Given the description of an element on the screen output the (x, y) to click on. 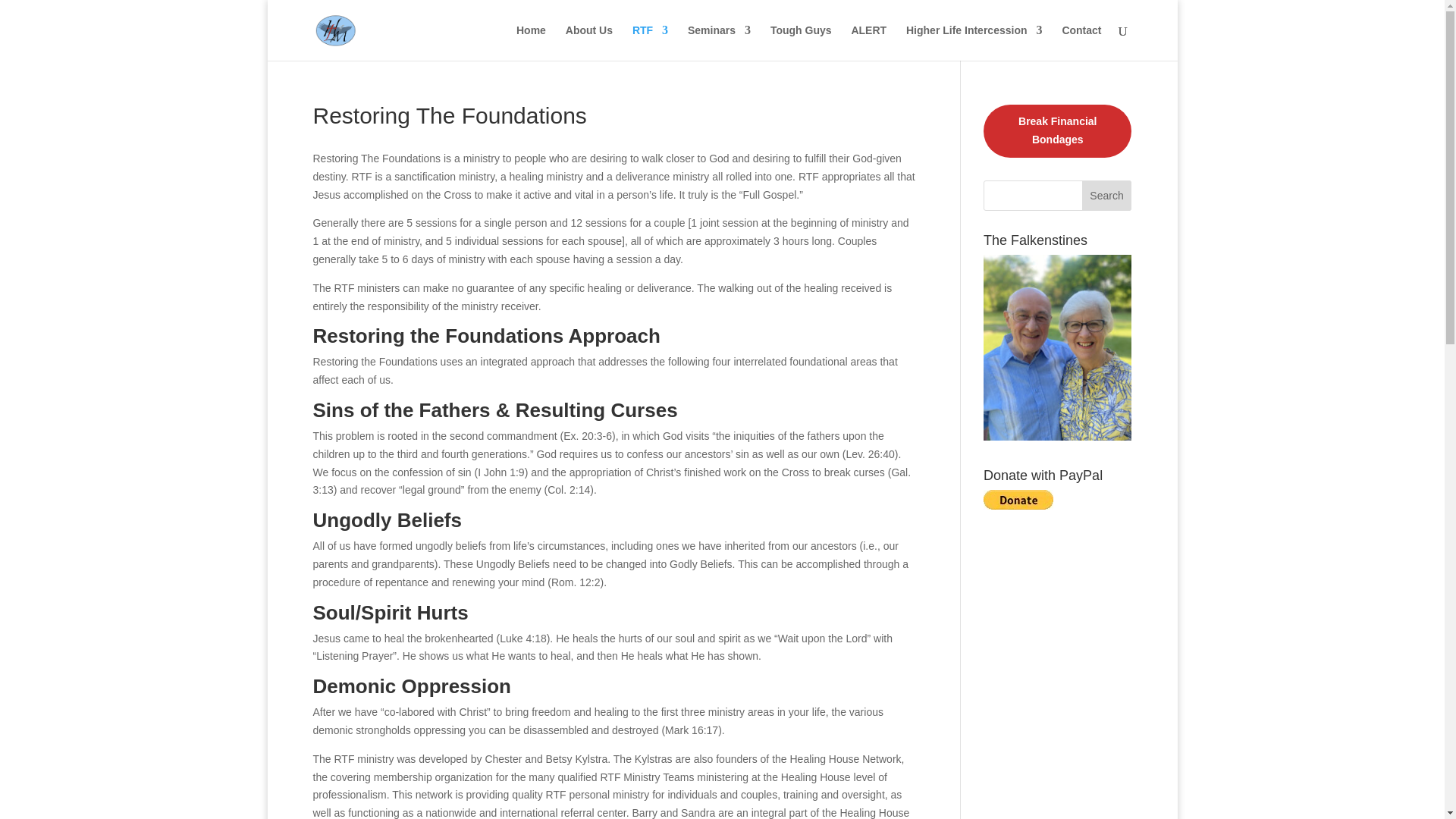
ALERT (868, 42)
Tough Guys (800, 42)
Seminars (719, 42)
Contact (1080, 42)
About Us (589, 42)
Search (1106, 195)
RTF (649, 42)
Higher Life Intercession (973, 42)
